Given the description of an element on the screen output the (x, y) to click on. 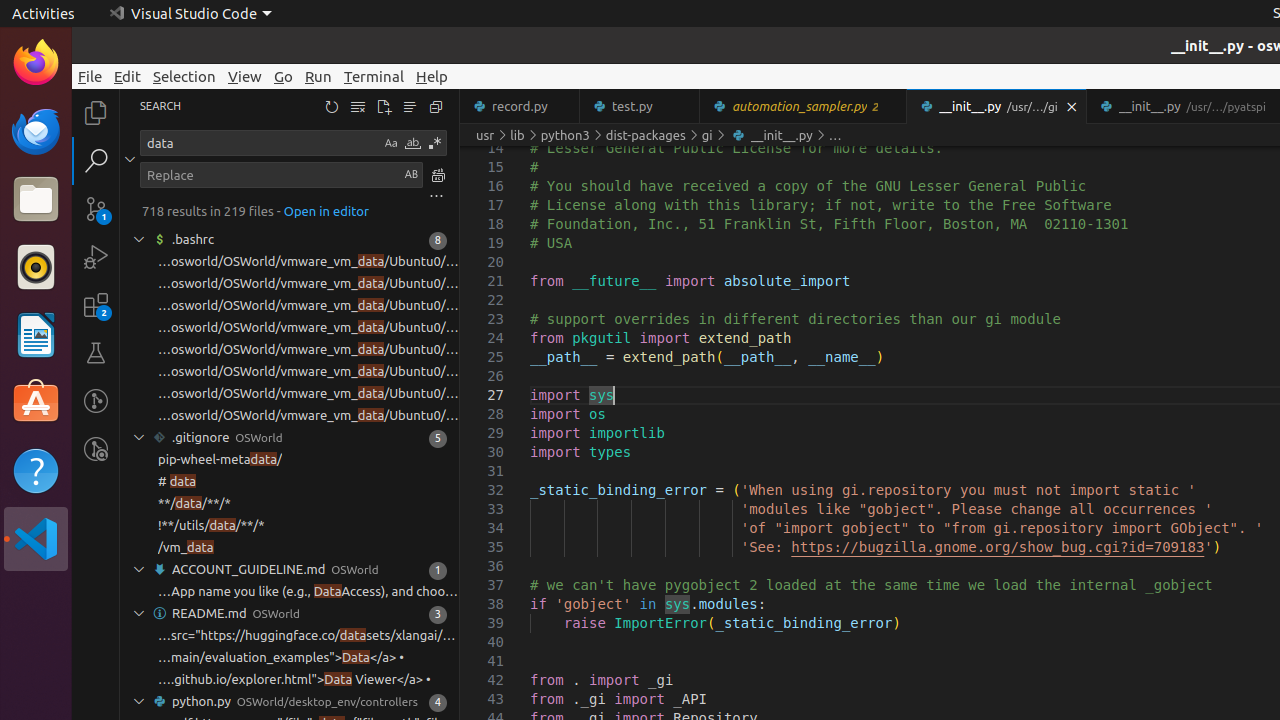
…osworld/OSWorld/vmware_vm_data/Ubuntu0/Ubuntu0.vmx /home/user/vm.log vm.log; }; _vmbash' vmrun -T ws -gu user -gp password runScriptInGuest /home/PJLAB/luyi1/osworld/OSWorld/vmware_vm_data/Ubuntu0/Ubuntu0.vmx "/bin/bash" "ip a > /home/user/vm.log" & Element type: link (308, 327)
Open New Search Editor Element type: push-button (384, 106)
pip-wheel-metadata/ Element type: link (220, 459)
Preserve Case (Alt+P) Element type: check-box (411, 174)
automation_sampler.py, preview Element type: page-tab (804, 106)
